Given the description of an element on the screen output the (x, y) to click on. 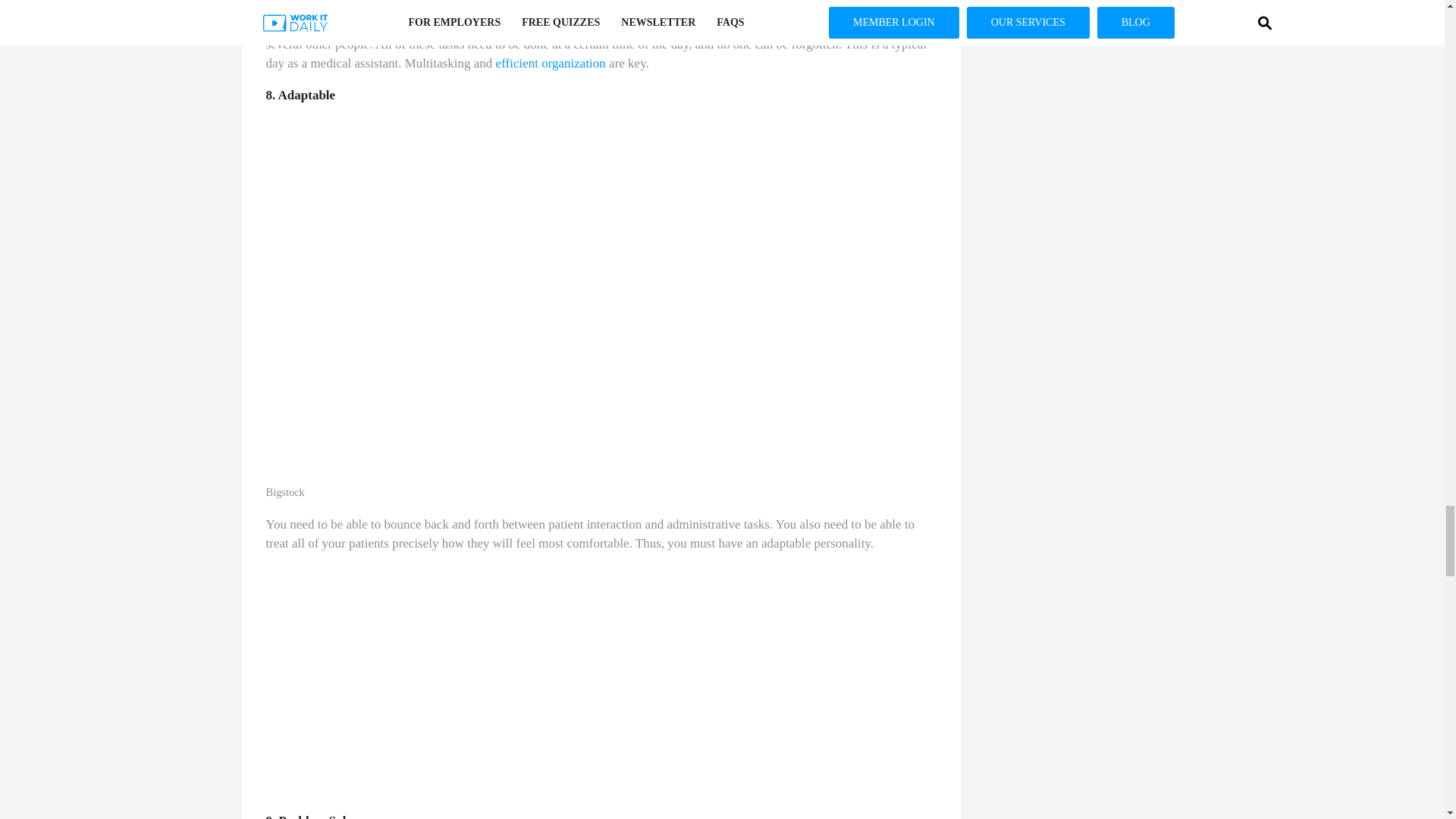
efficient organization (550, 63)
